Given the description of an element on the screen output the (x, y) to click on. 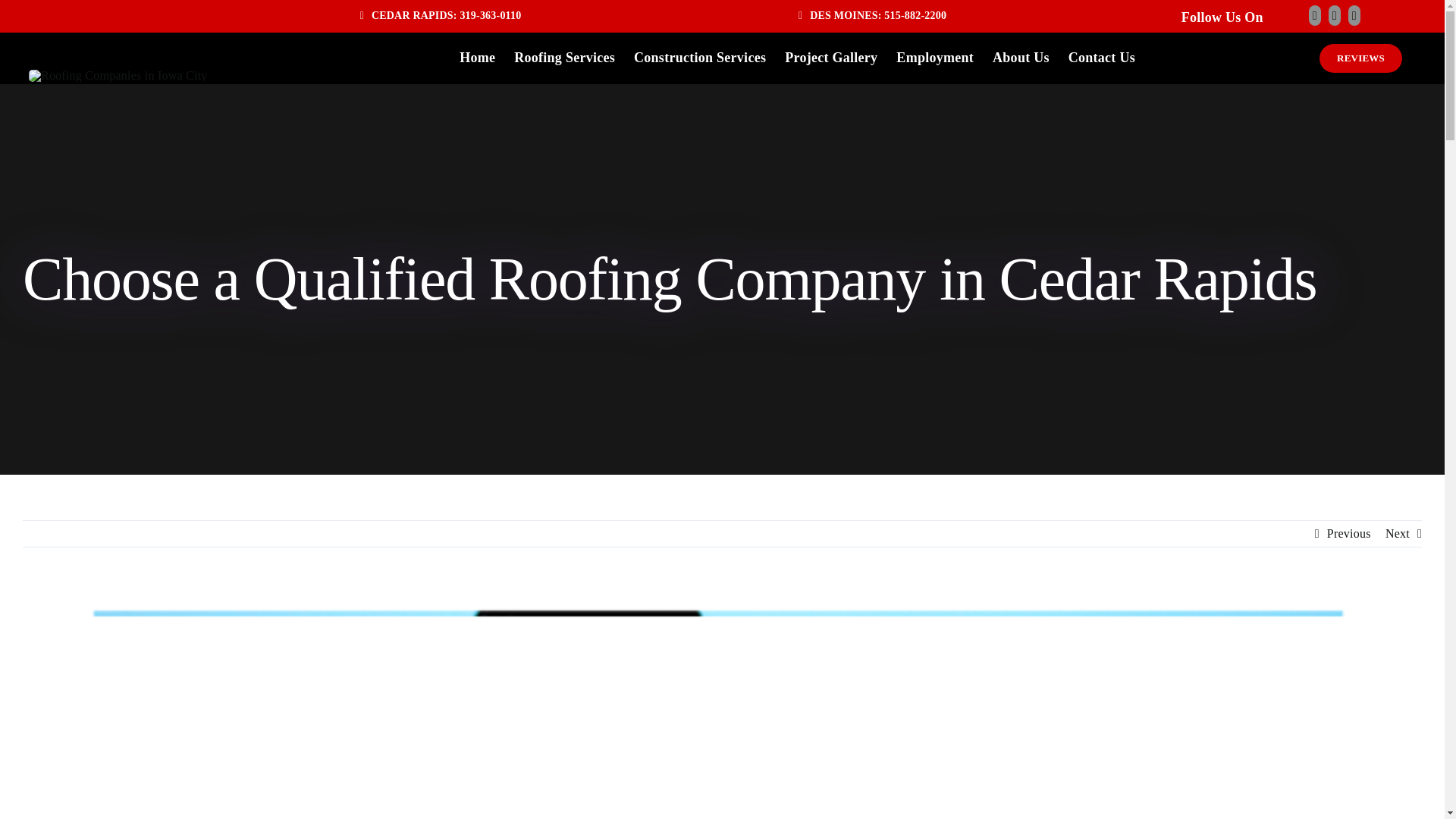
Previous (1348, 533)
Project Gallery (830, 57)
About Us (1020, 57)
Home (477, 57)
Employment (935, 57)
REVIEWS (1360, 58)
Next (1397, 533)
DES MOINES: 515-882-2200 (872, 16)
Construction Services (699, 57)
